Given the description of an element on the screen output the (x, y) to click on. 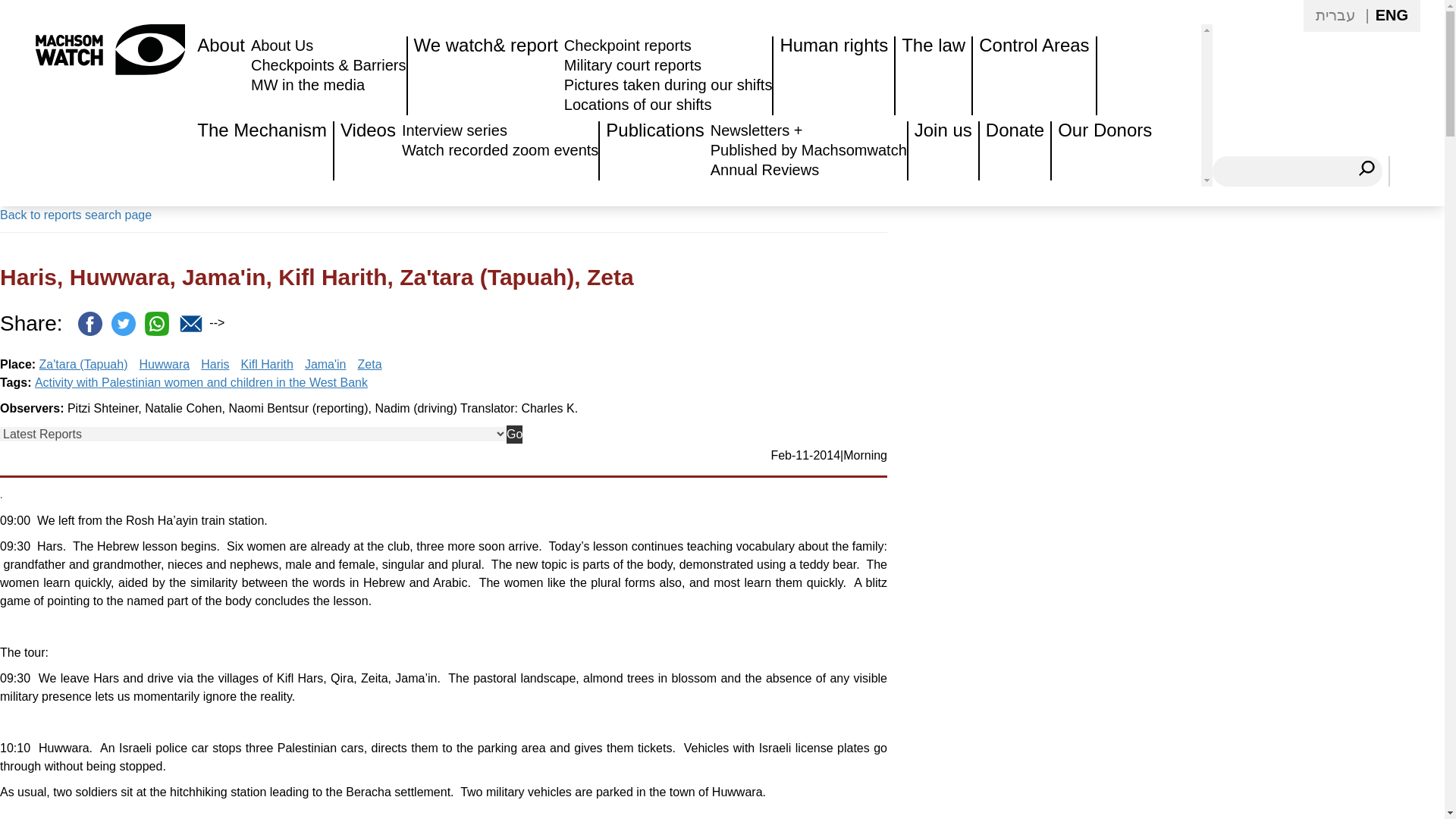
Home (104, 105)
Videos (367, 150)
Human Rights deprivation: we see it and repot to the public (485, 75)
Search (19, 9)
Locations of our shifts (637, 104)
The Mechanism (261, 150)
About Us (281, 45)
Control Areas A,B and C annexation areas de facto (1033, 75)
Control Areas (1033, 75)
Join us (943, 150)
MW in the media (307, 84)
We follow military courts sessions (632, 64)
Published by Machsomwatch (808, 149)
Human rights (833, 75)
